Given the description of an element on the screen output the (x, y) to click on. 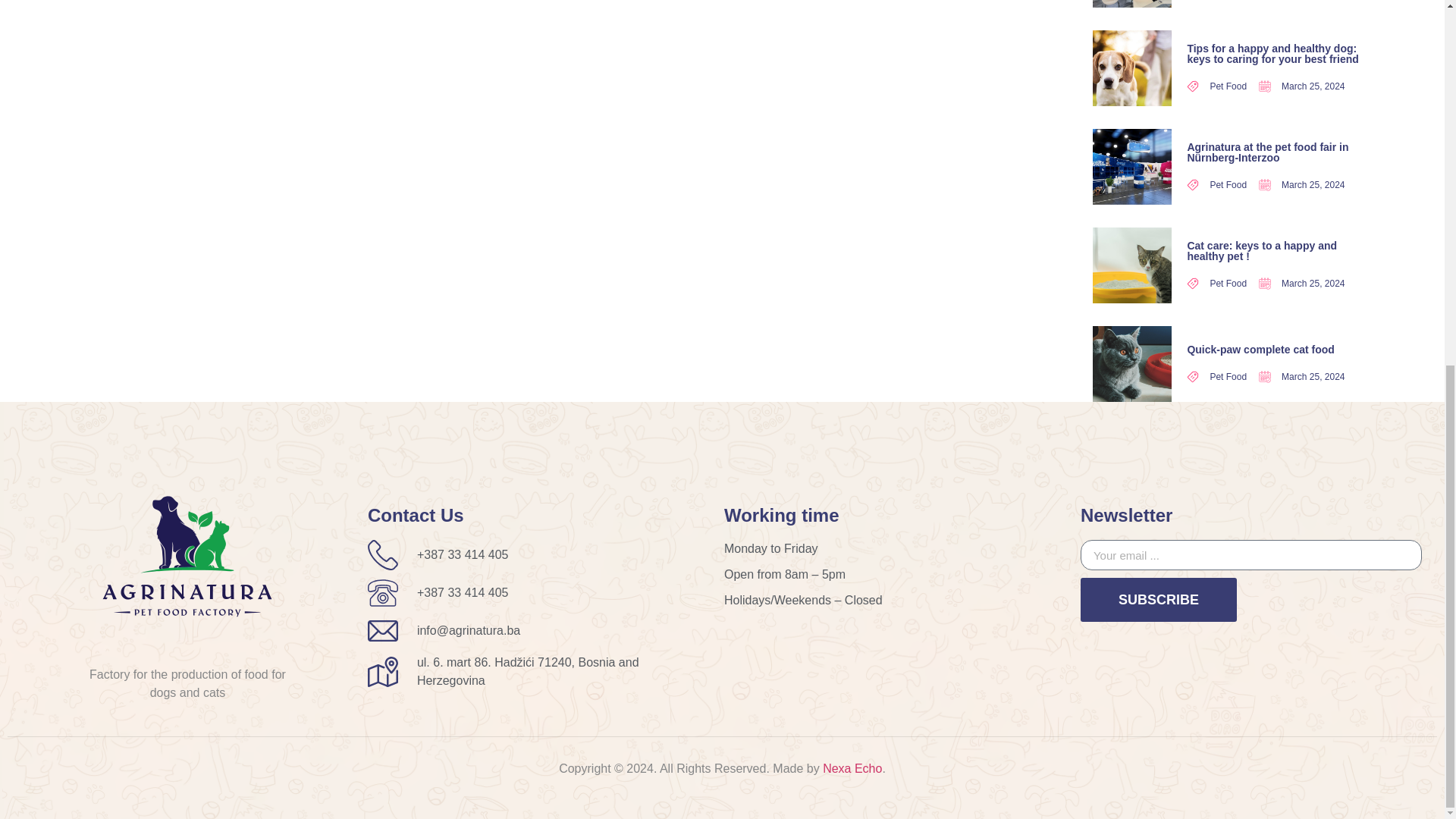
SUBSCRIBE (1158, 599)
Nexa Echo (852, 768)
